Given the description of an element on the screen output the (x, y) to click on. 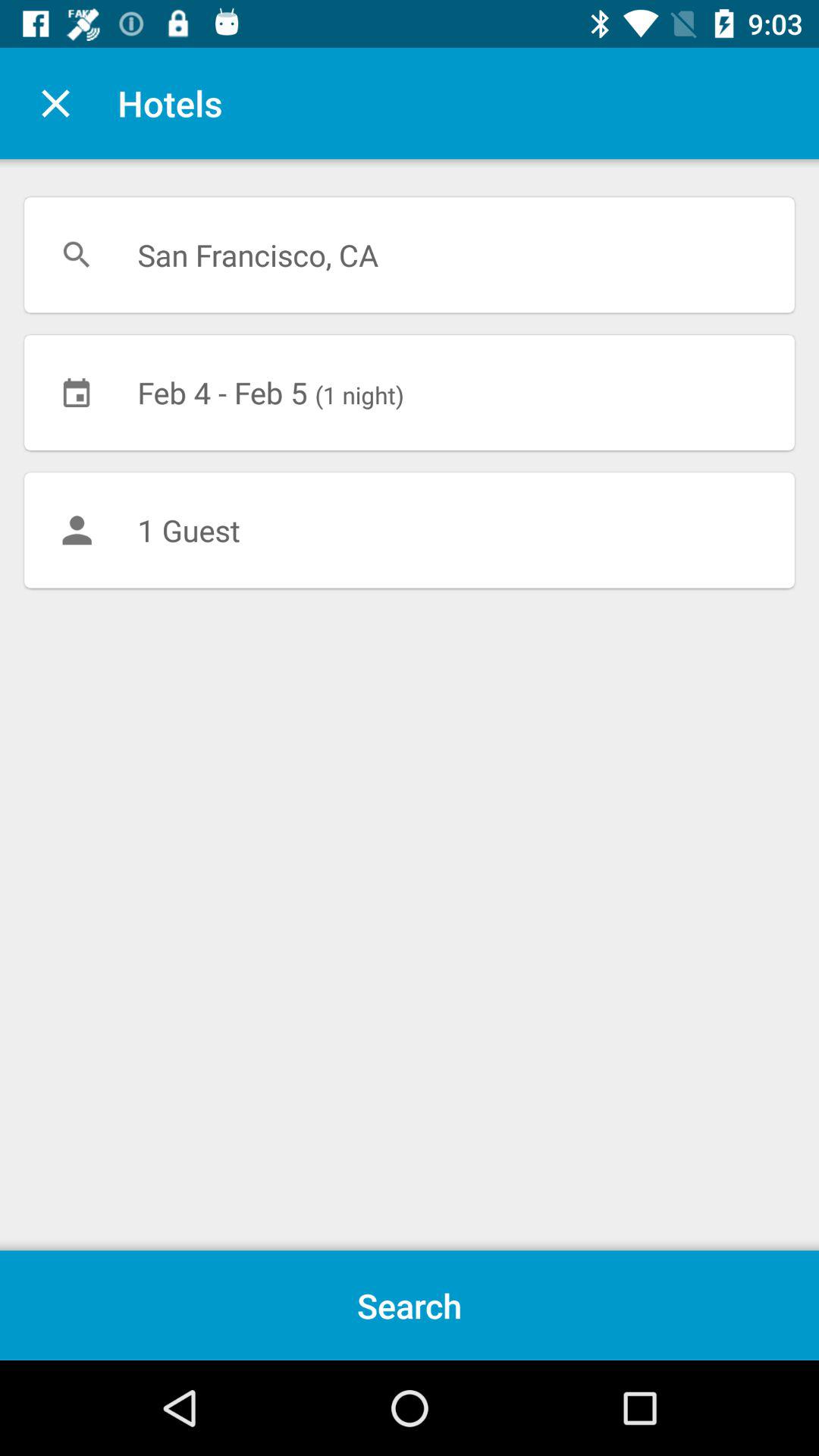
launch item to the left of the hotels item (55, 103)
